Given the description of an element on the screen output the (x, y) to click on. 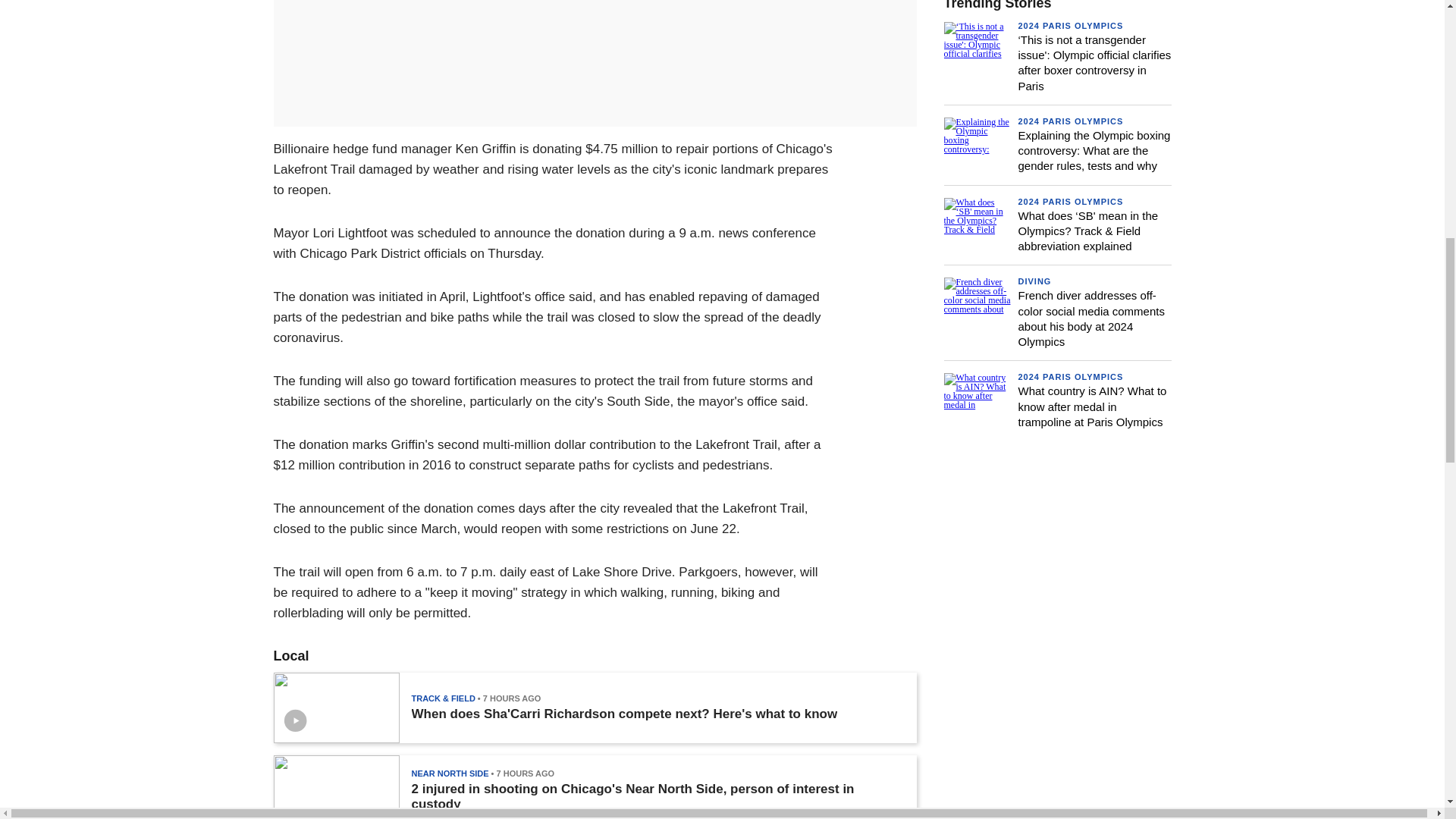
NEAR NORTH SIDE (448, 773)
2024 PARIS OLYMPICS (1069, 25)
